Given the description of an element on the screen output the (x, y) to click on. 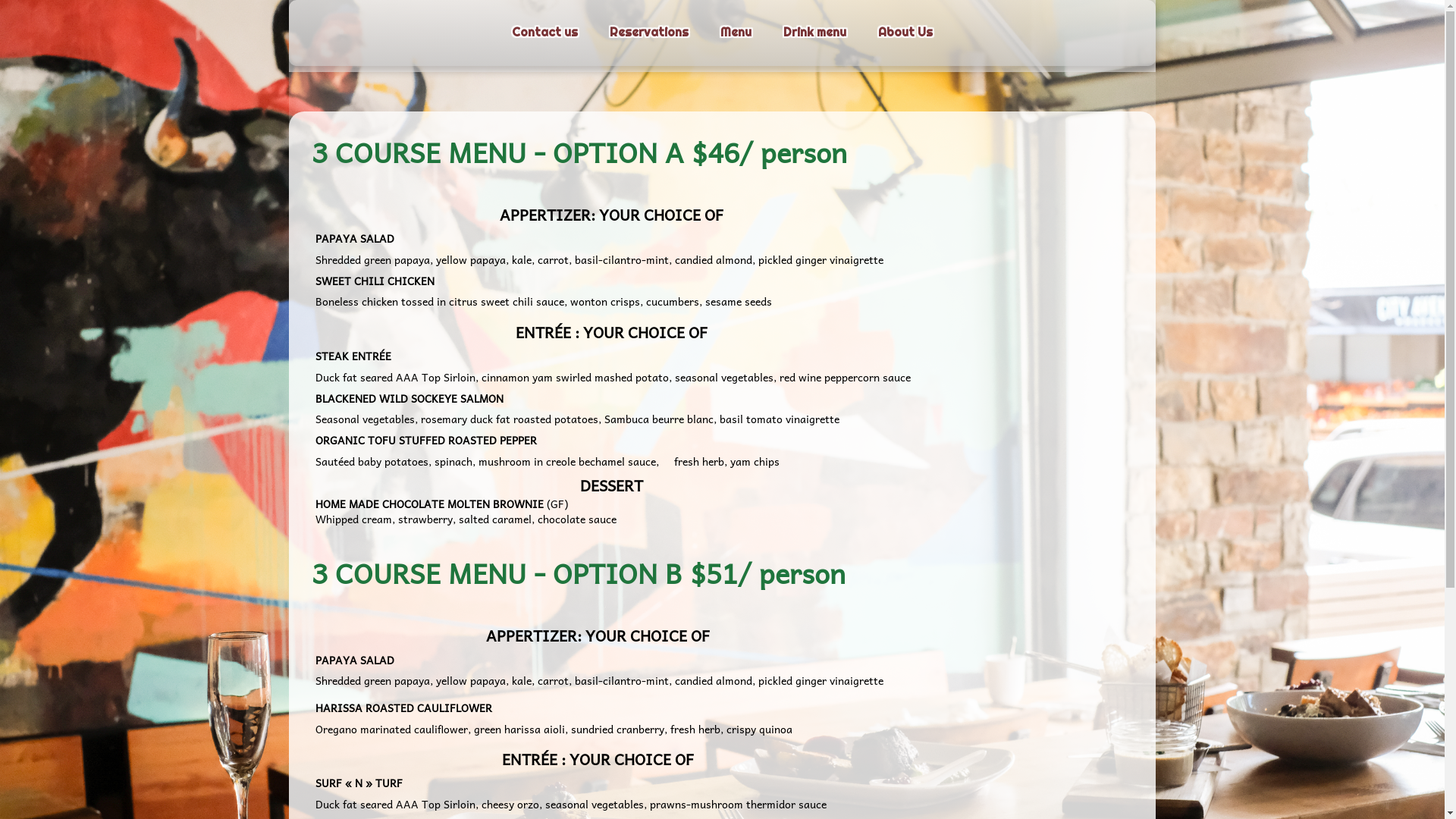
About Us Element type: text (904, 32)
Drink menu Element type: text (814, 32)
Reservations Element type: text (648, 32)
Contact us Element type: text (544, 32)
Menu Element type: text (735, 32)
